Given the description of an element on the screen output the (x, y) to click on. 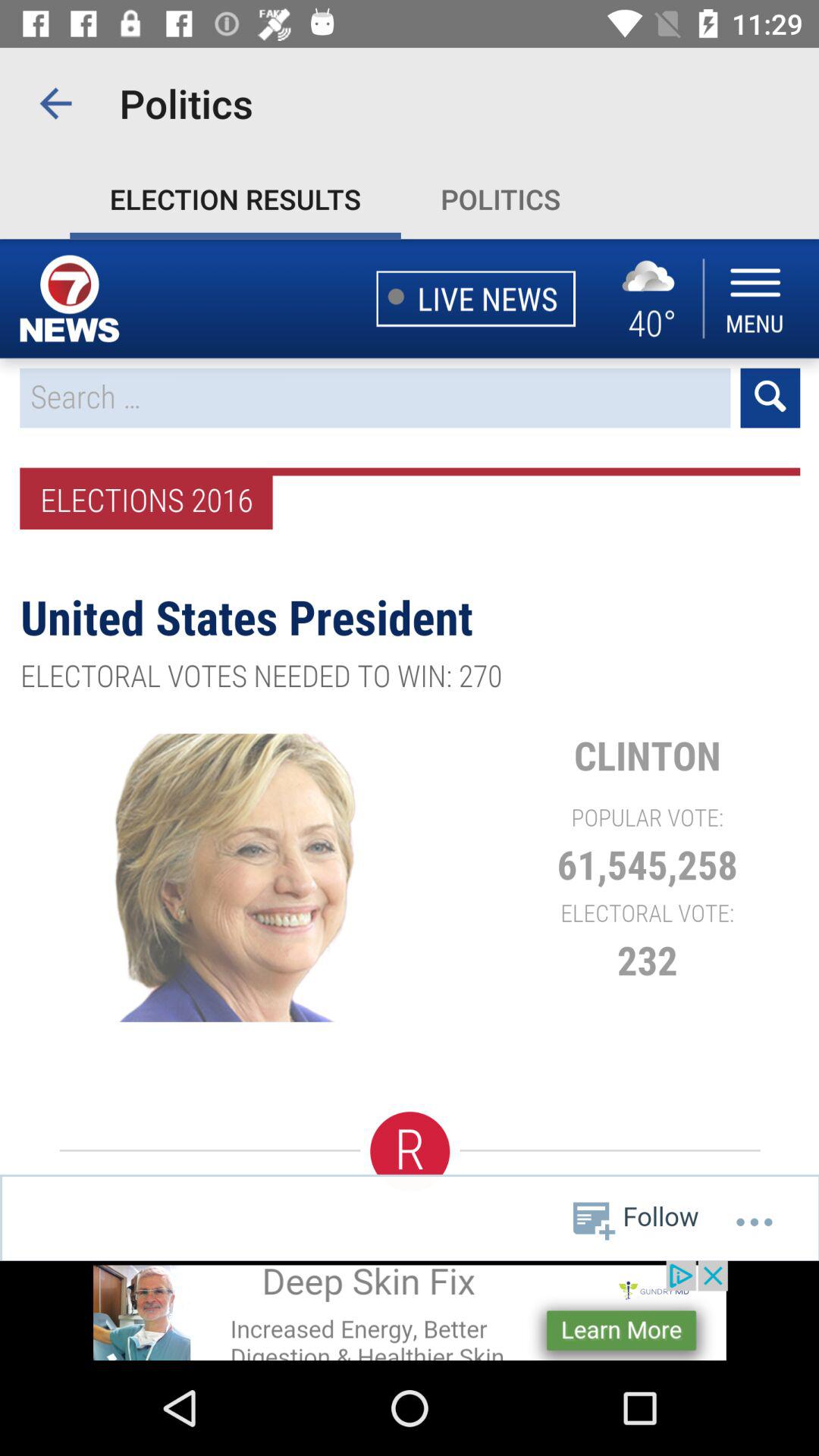
7 news election results (409, 749)
